Given the description of an element on the screen output the (x, y) to click on. 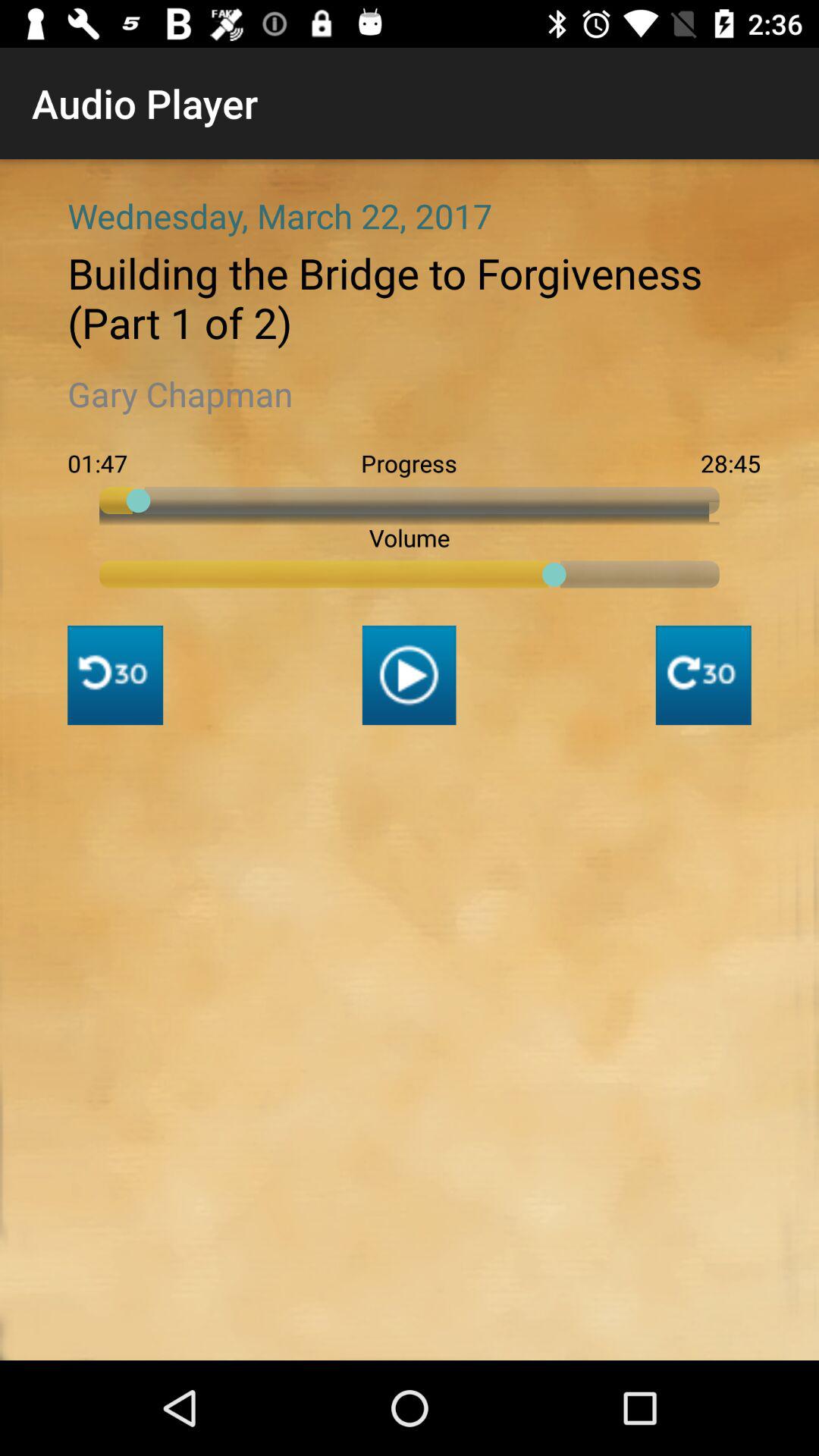
launch icon on the left (115, 675)
